Given the description of an element on the screen output the (x, y) to click on. 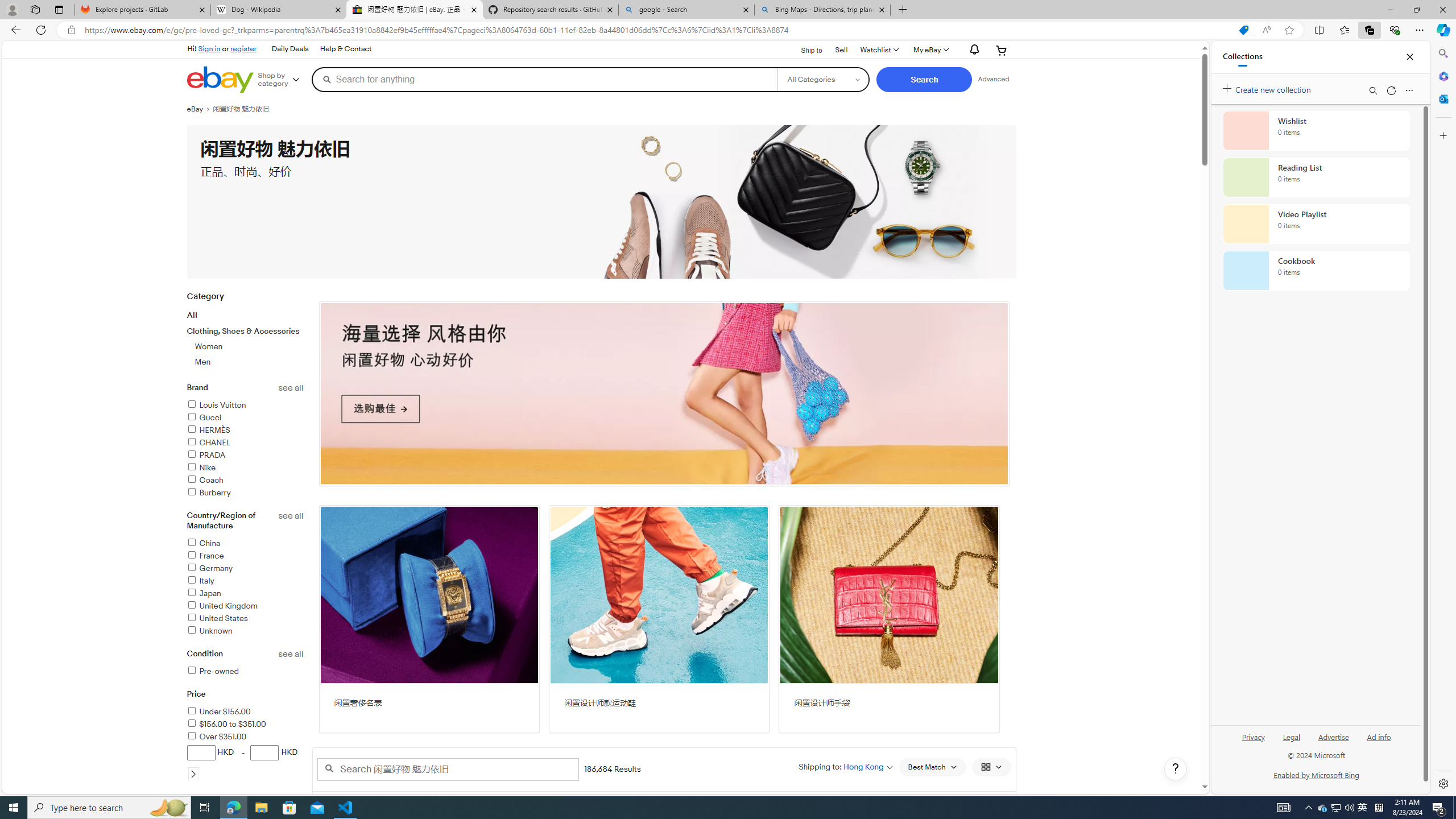
Coach (245, 480)
See all country/region of manufacture refinements (291, 516)
Burberry (208, 492)
My eBay (930, 49)
